Given the description of an element on the screen output the (x, y) to click on. 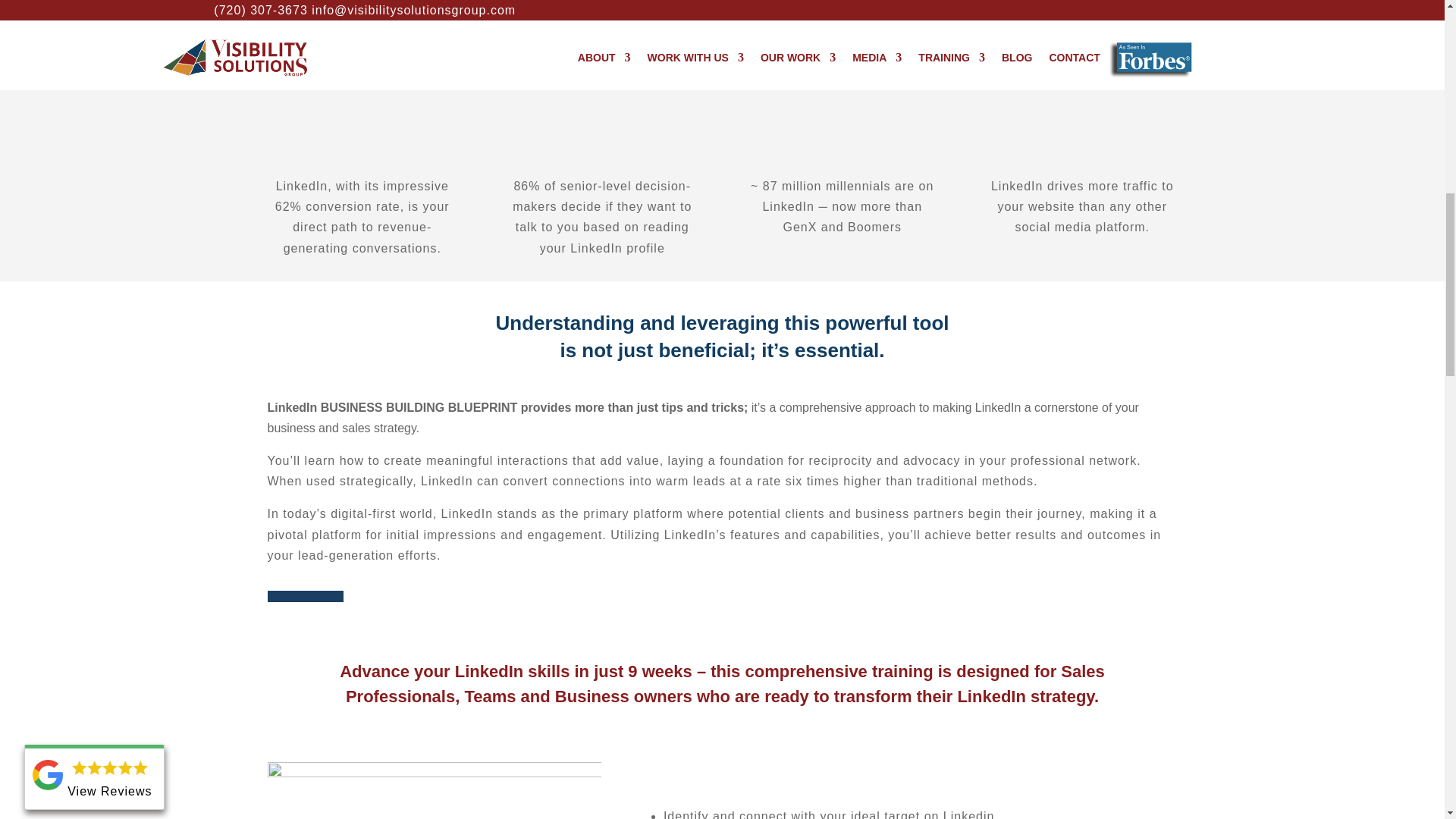
LinkedIN image (432, 790)
